Given the description of an element on the screen output the (x, y) to click on. 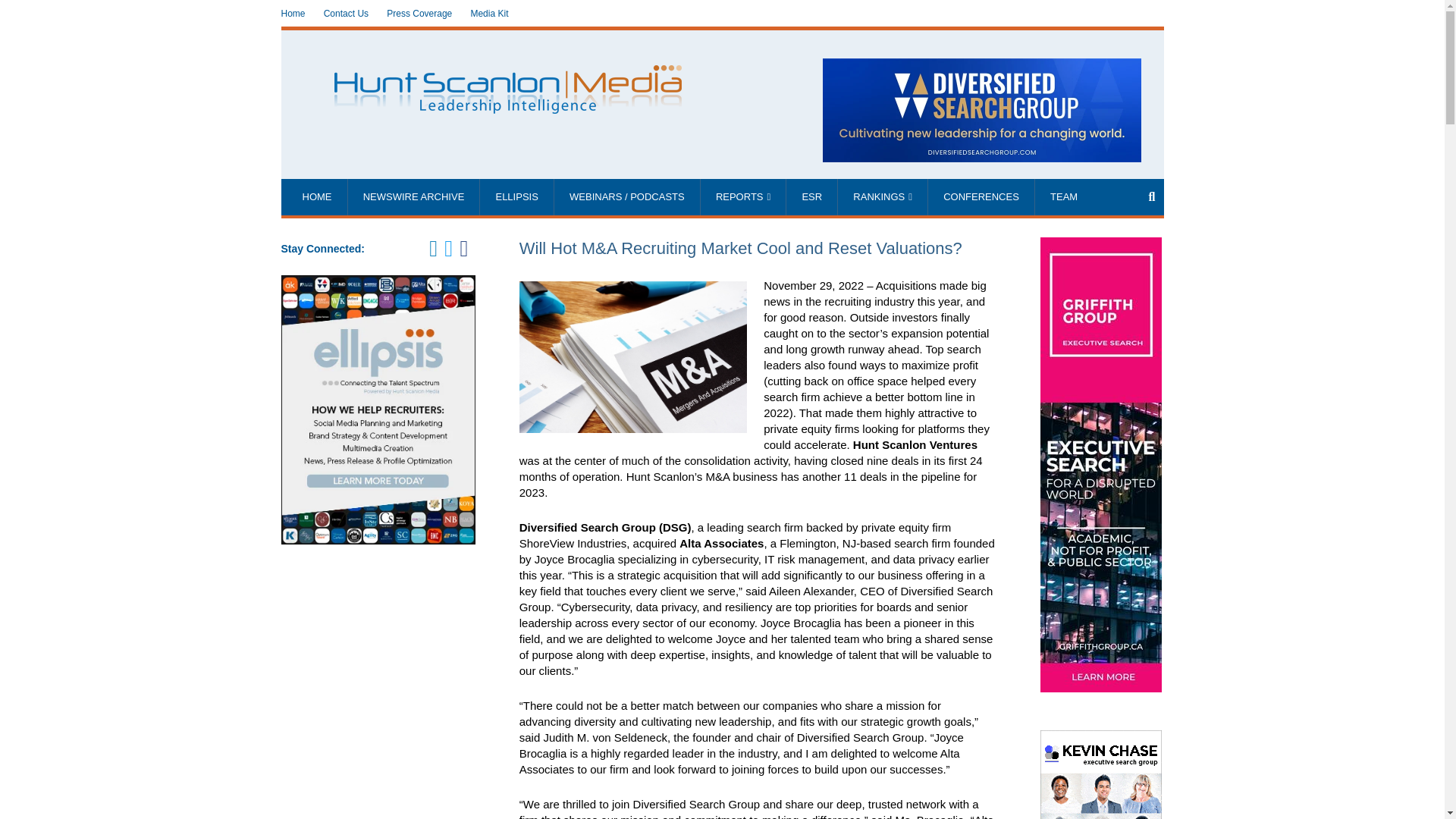
REPORTS (743, 197)
Webinars and podcasts on talent and recruiting trends (627, 197)
Home (292, 13)
NEWSWIRE ARCHIVE (413, 197)
Media Kit (489, 13)
HOME (316, 197)
